Given the description of an element on the screen output the (x, y) to click on. 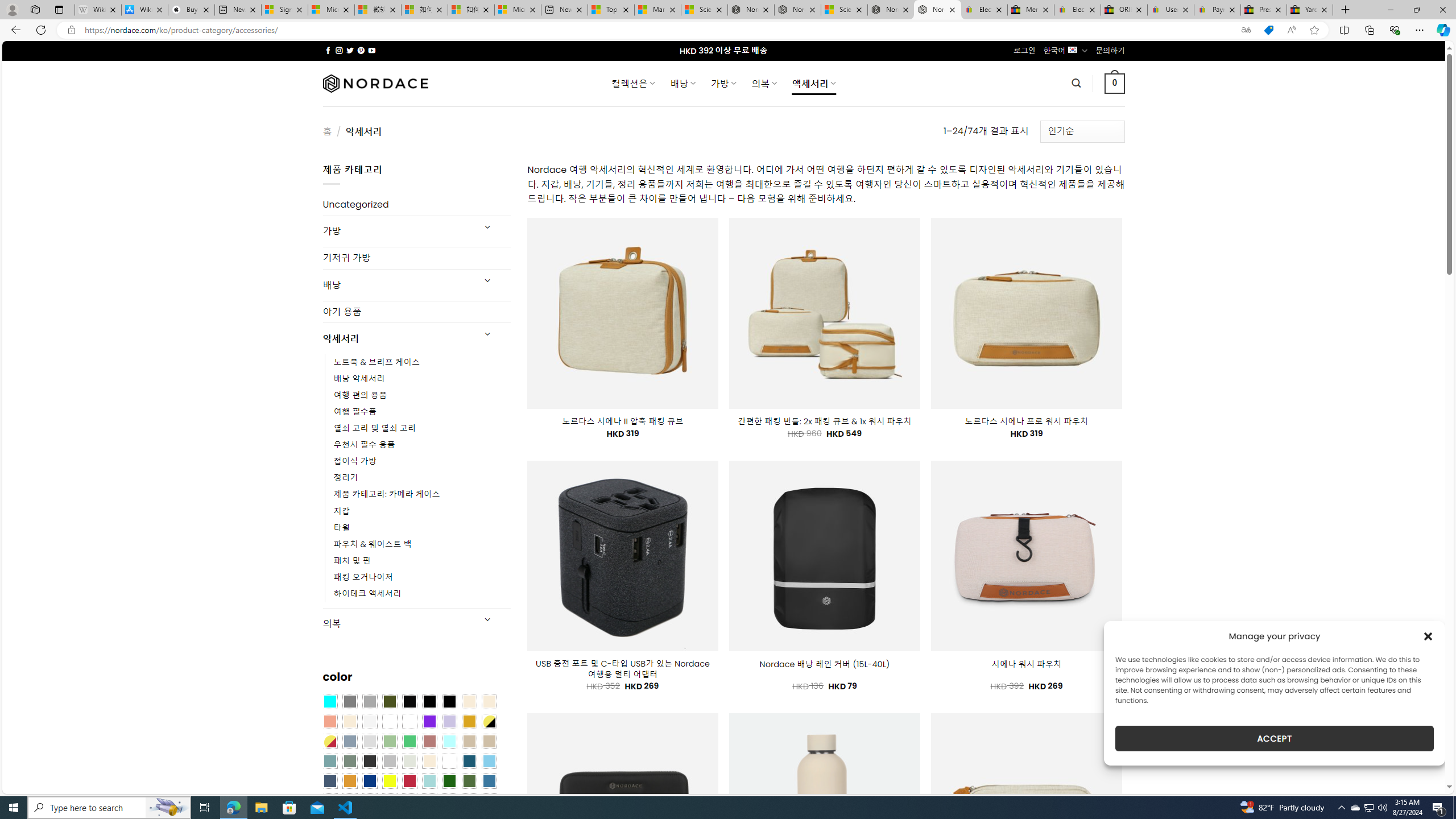
Press Room - eBay Inc. (1263, 9)
Payments Terms of Use | eBay.com (1216, 9)
